Given the description of an element on the screen output the (x, y) to click on. 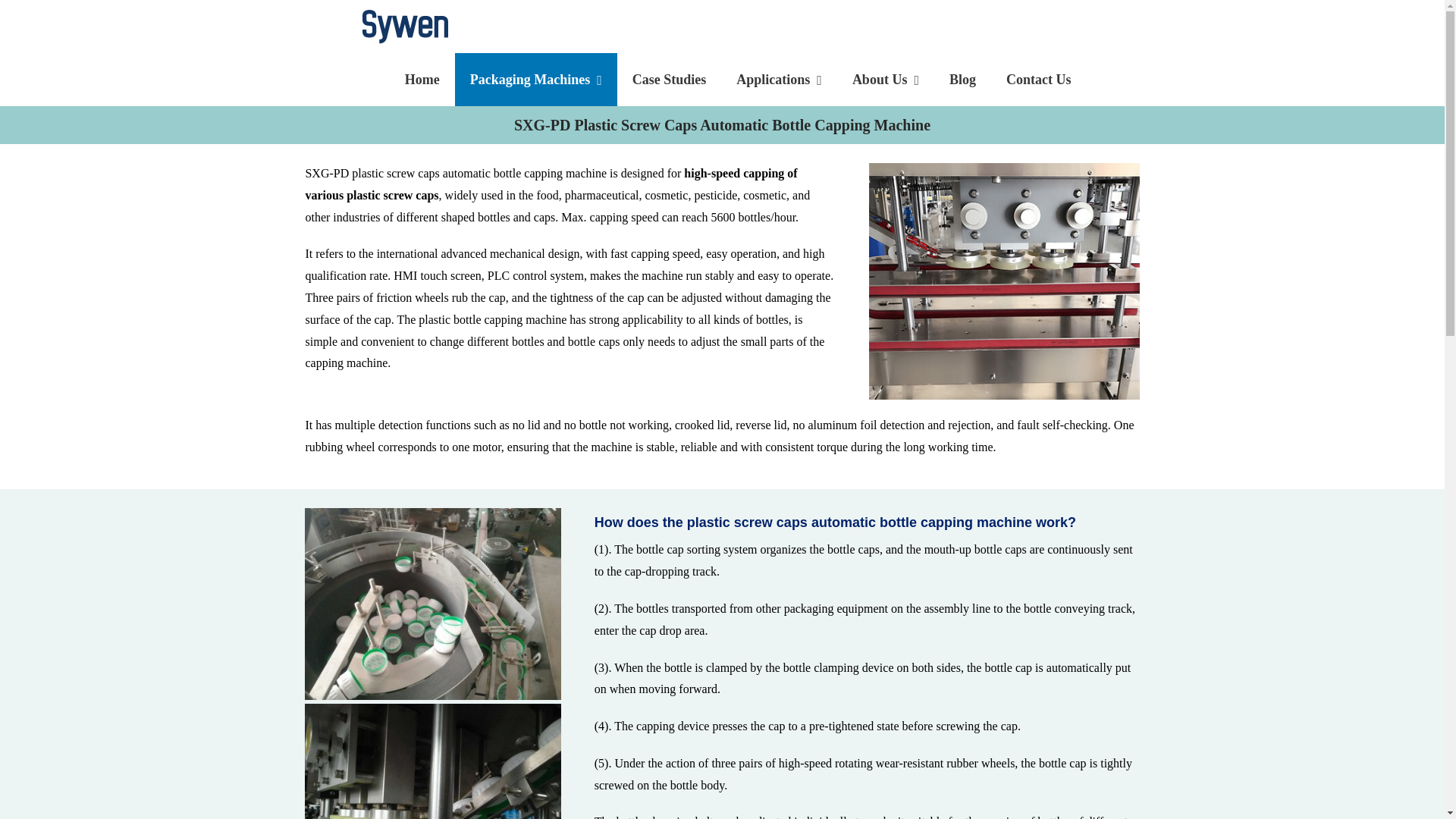
Packaging Machines (535, 79)
Home (422, 79)
Automatic Caps Sorting Machine (432, 603)
Plastic Bottle Caps Automatic Capper (1003, 280)
